Given the description of an element on the screen output the (x, y) to click on. 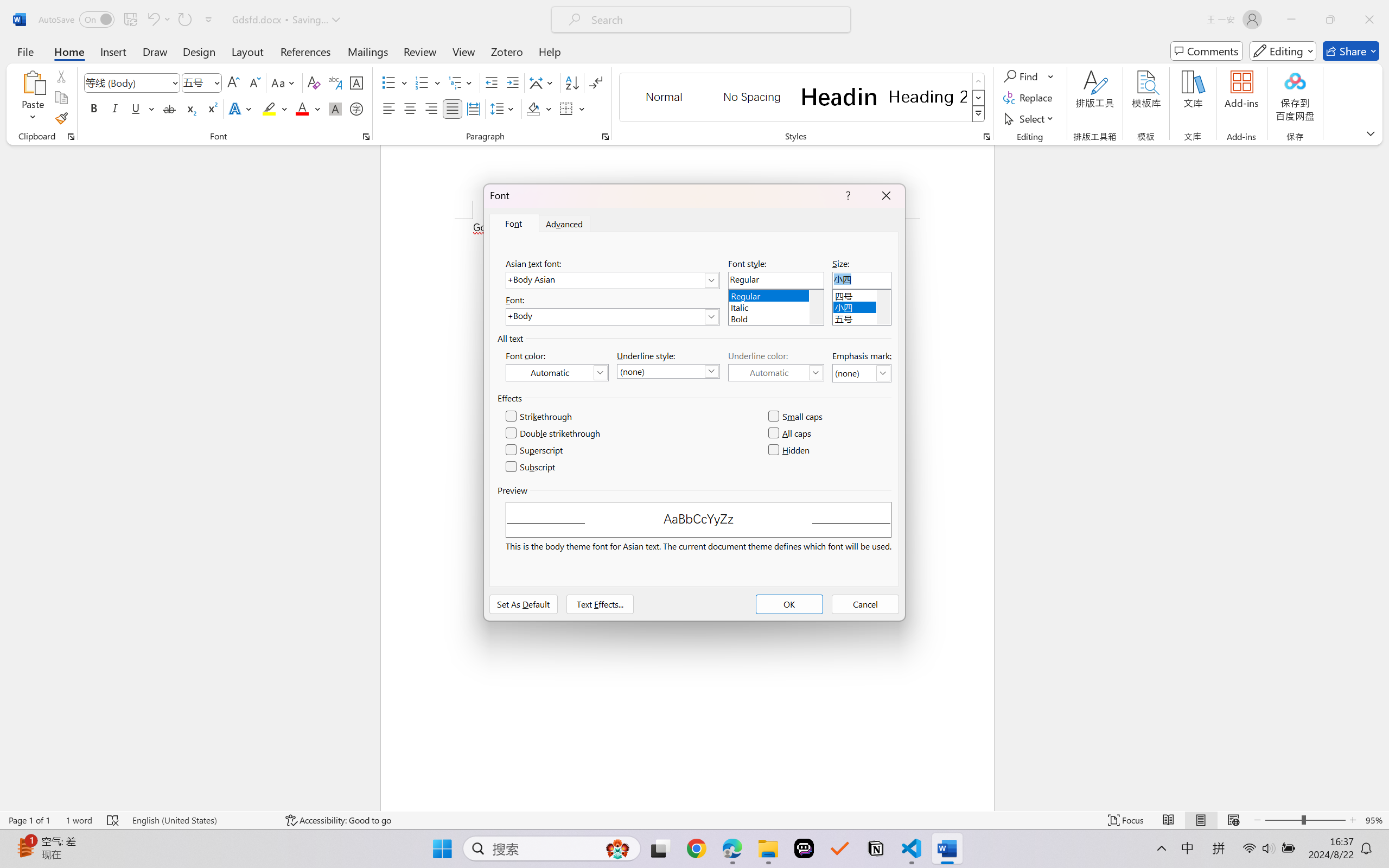
Superscript (535, 450)
Advanced (564, 223)
Align Left (388, 108)
Microsoft search (715, 19)
Superscript (210, 108)
Distributed (473, 108)
Regular (775, 294)
Font: (612, 316)
